Given the description of an element on the screen output the (x, y) to click on. 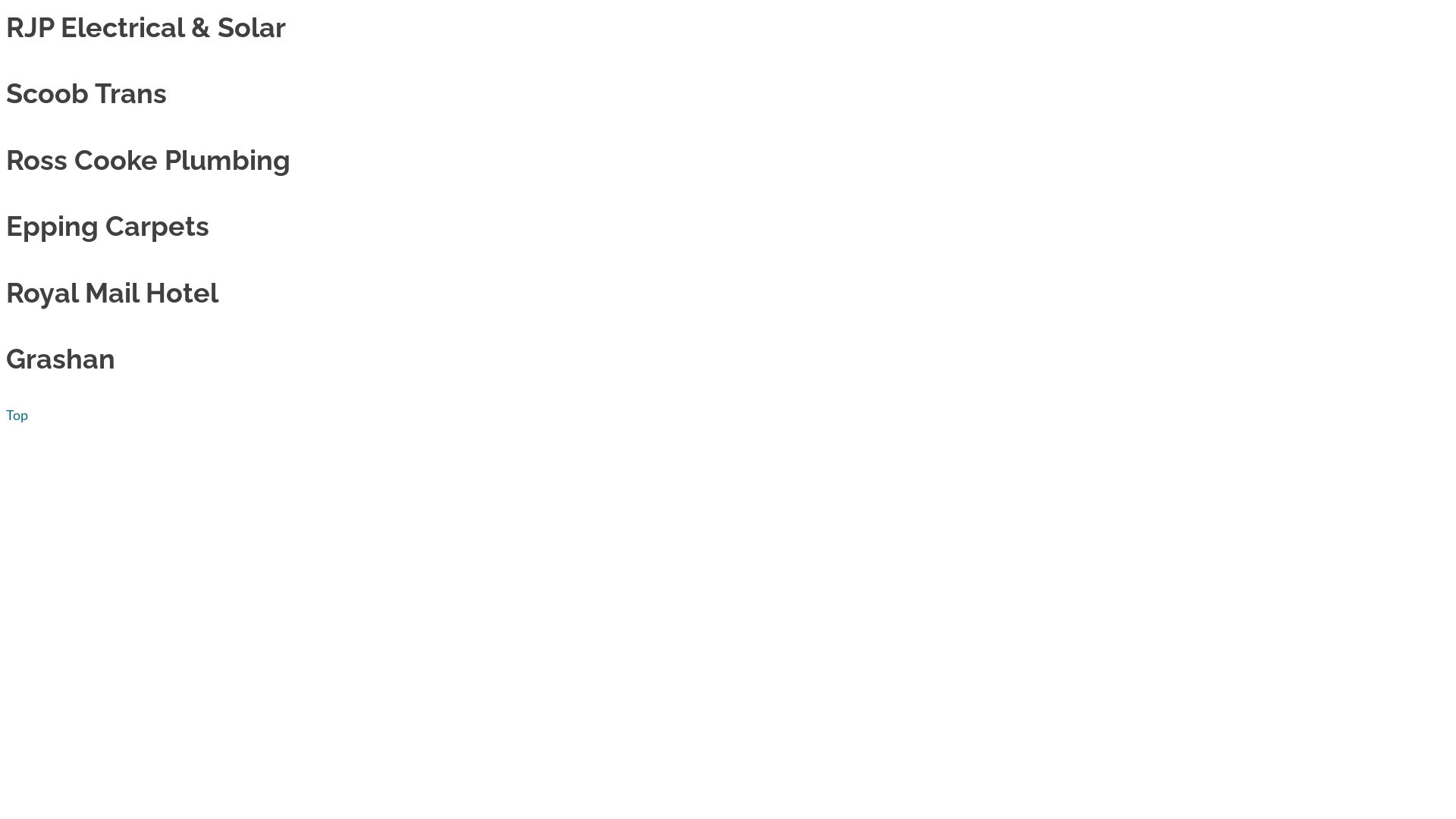
Top Element type: text (17, 414)
